Given the description of an element on the screen output the (x, y) to click on. 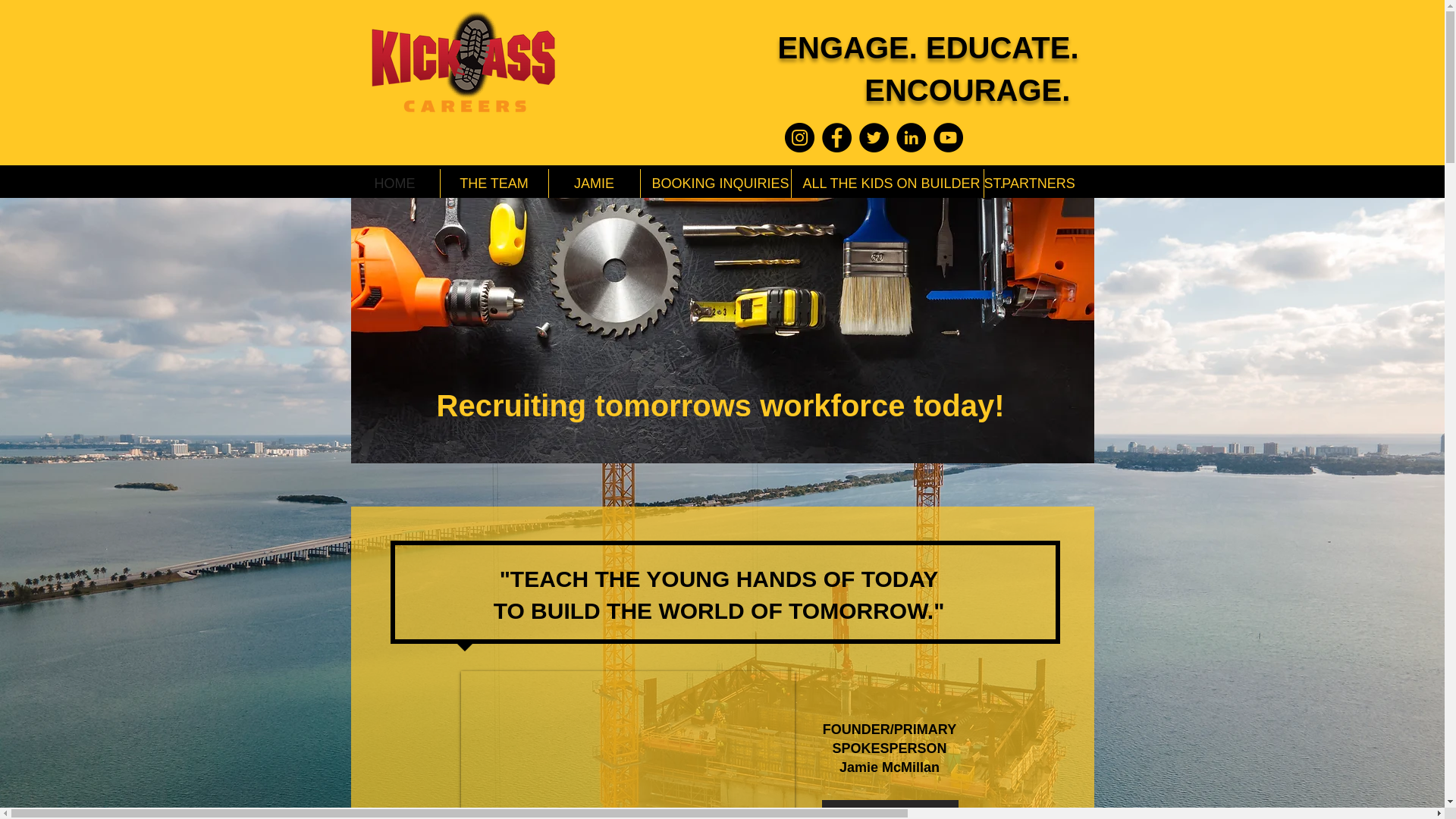
MORE INFO (890, 809)
THE TEAM (493, 183)
JAMIE (594, 183)
ALL THE KIDS ON BUILDER ST. (888, 183)
HOME (394, 183)
PARTNERS (1038, 183)
BOOKING INQUIRIES (715, 183)
